Given the description of an element on the screen output the (x, y) to click on. 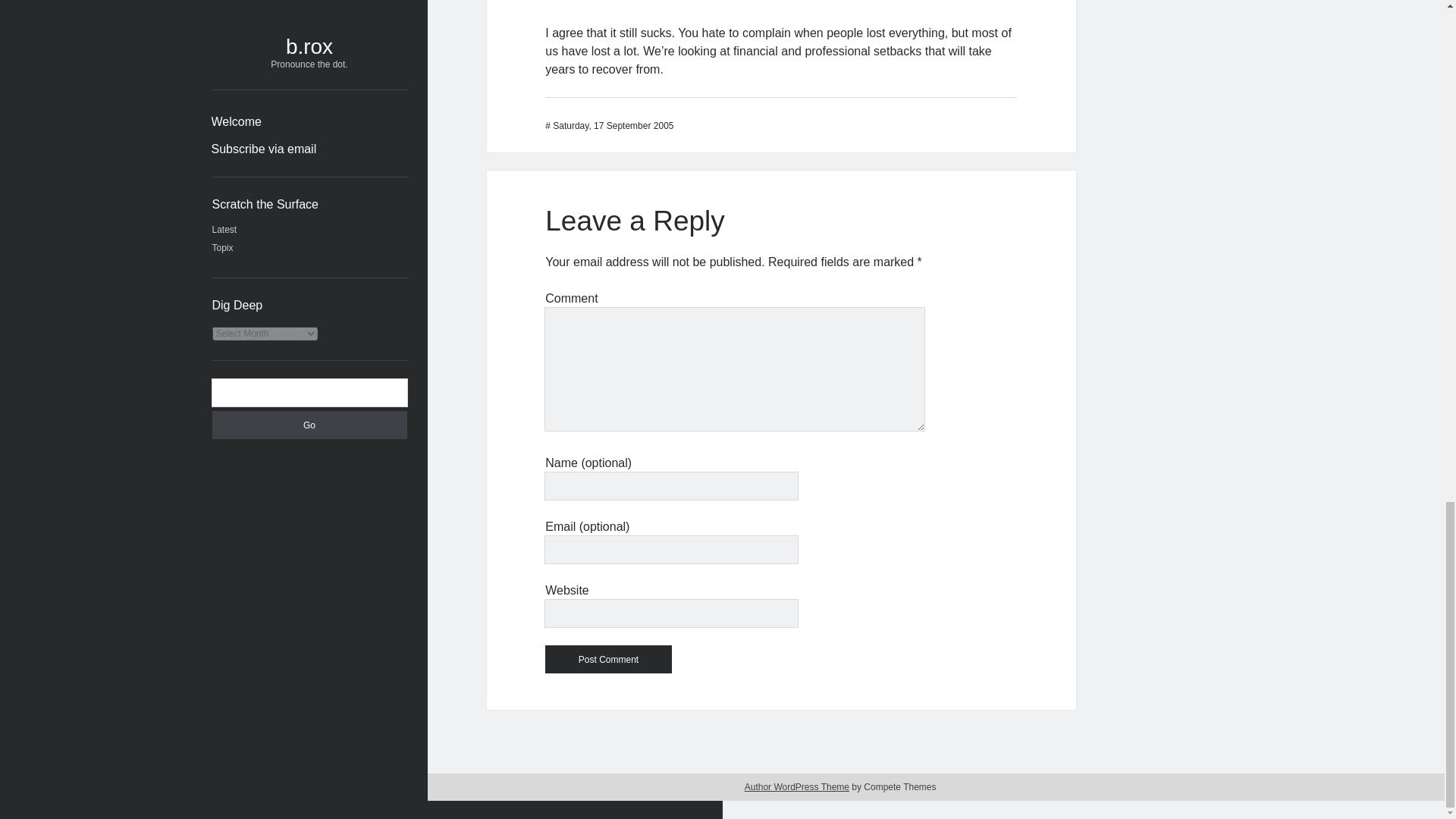
Post Comment (607, 659)
Author WordPress Theme (796, 787)
Post Comment (607, 659)
Statcounter (31, 809)
